Given the description of an element on the screen output the (x, y) to click on. 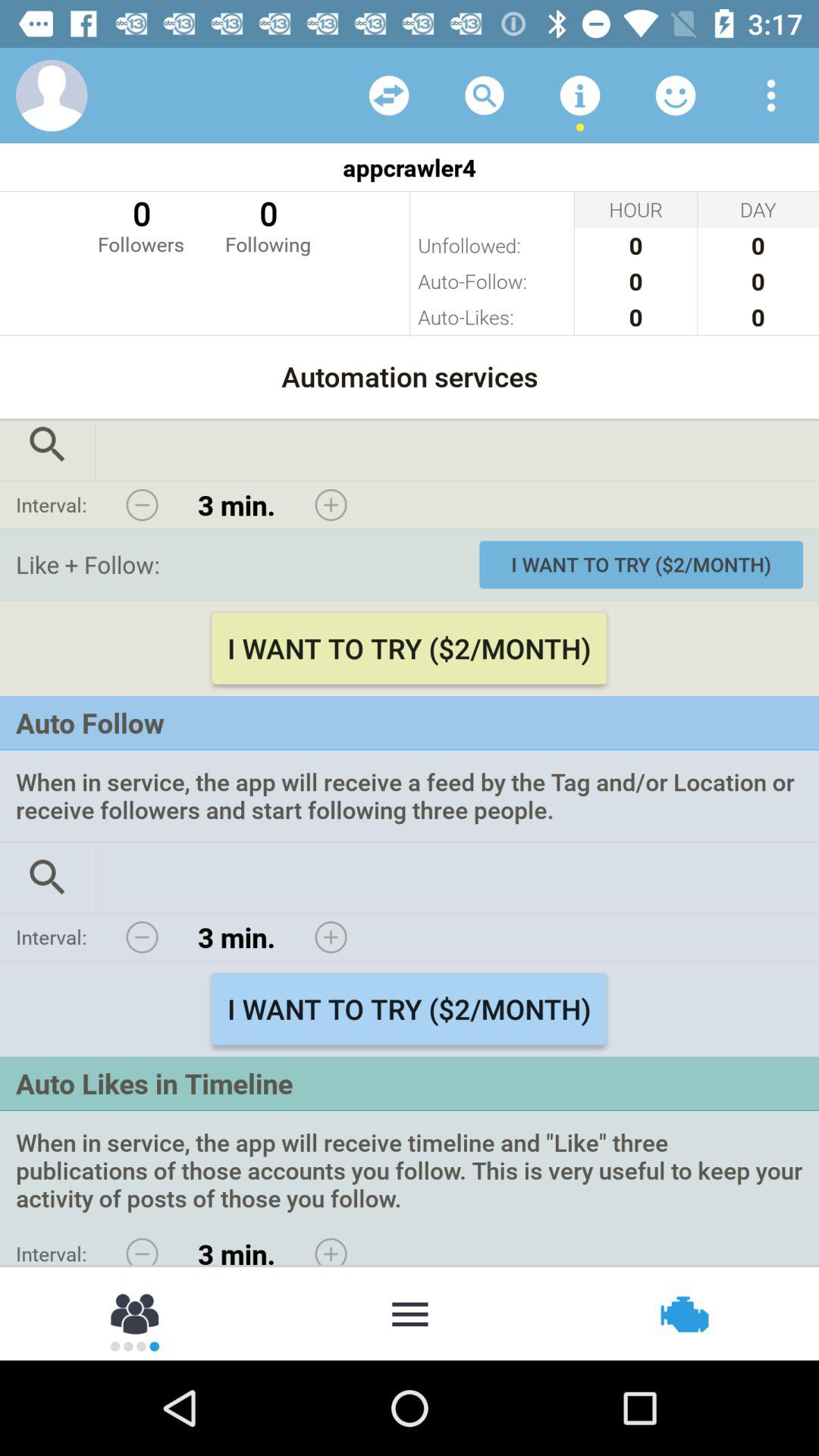
increase interval (330, 937)
